Given the description of an element on the screen output the (x, y) to click on. 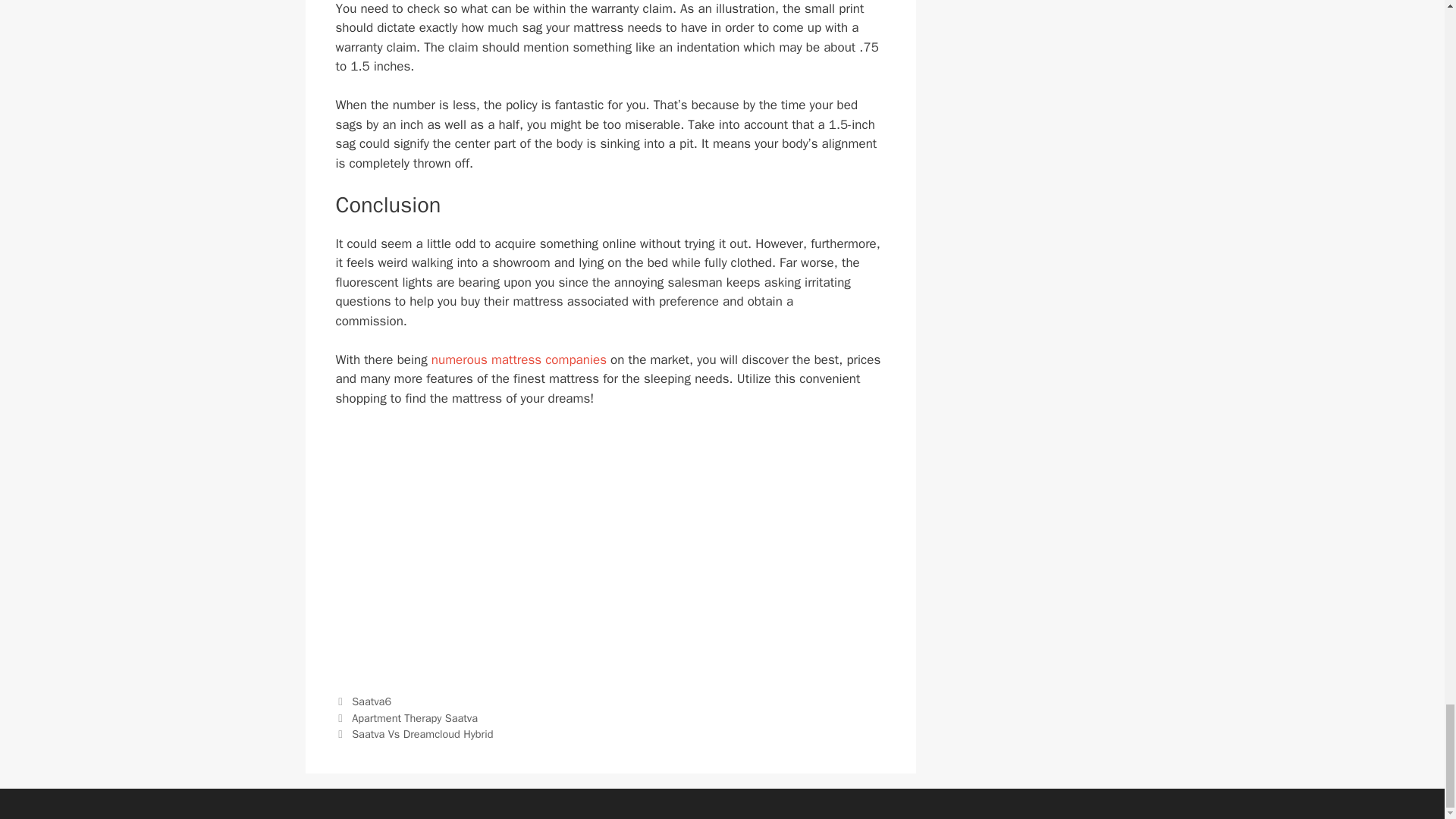
Saatva Vs Dreamcloud Hybrid (422, 734)
Saatva6 (371, 701)
numerous mattress companies (518, 359)
Apartment Therapy Saatva (414, 717)
YouTube video player (609, 546)
